Given the description of an element on the screen output the (x, y) to click on. 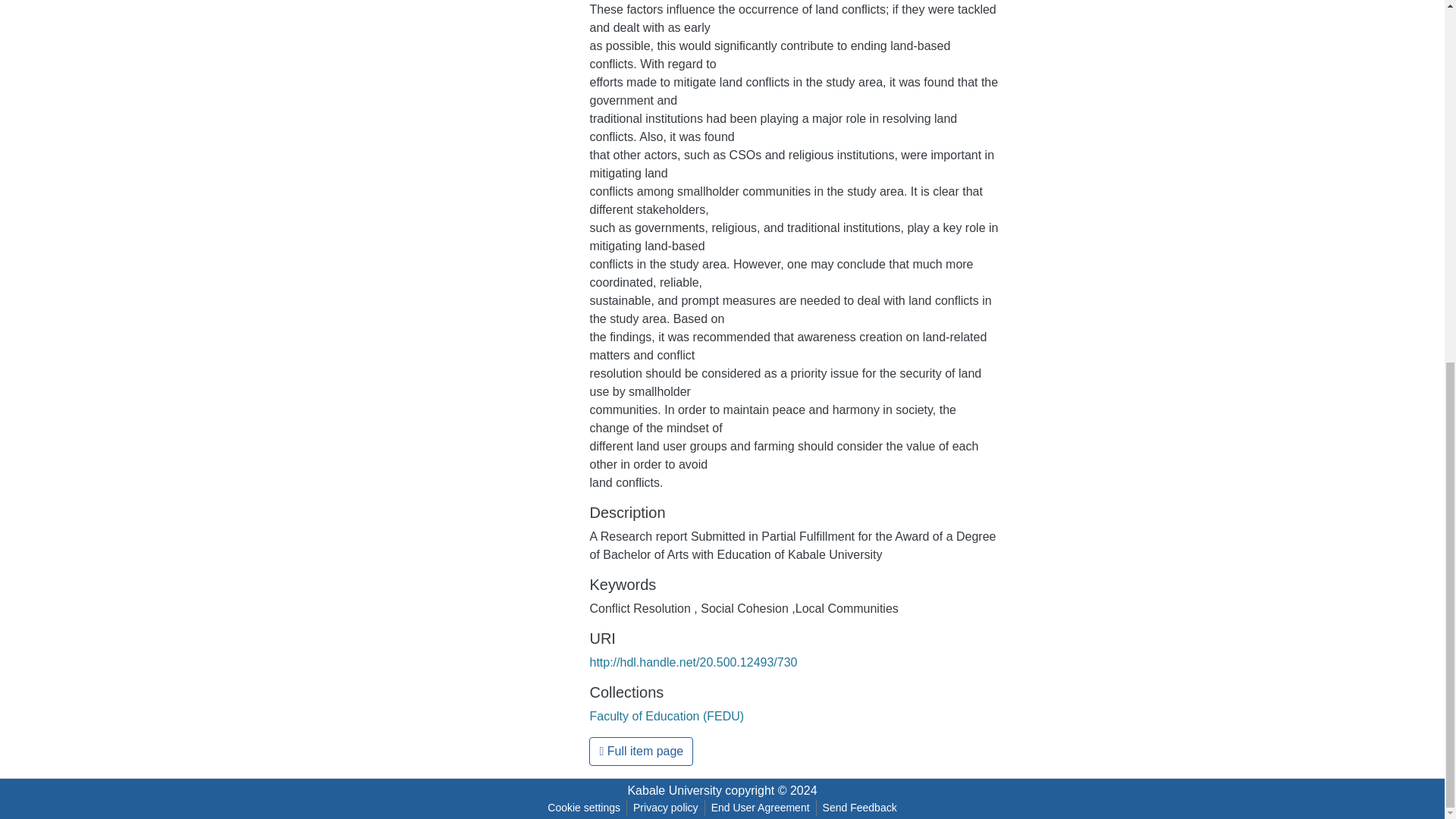
Full item page (641, 751)
Cookie settings (583, 807)
Send Feedback (859, 807)
Privacy policy (665, 807)
End User Agreement (759, 807)
Kabale University (674, 789)
